Given the description of an element on the screen output the (x, y) to click on. 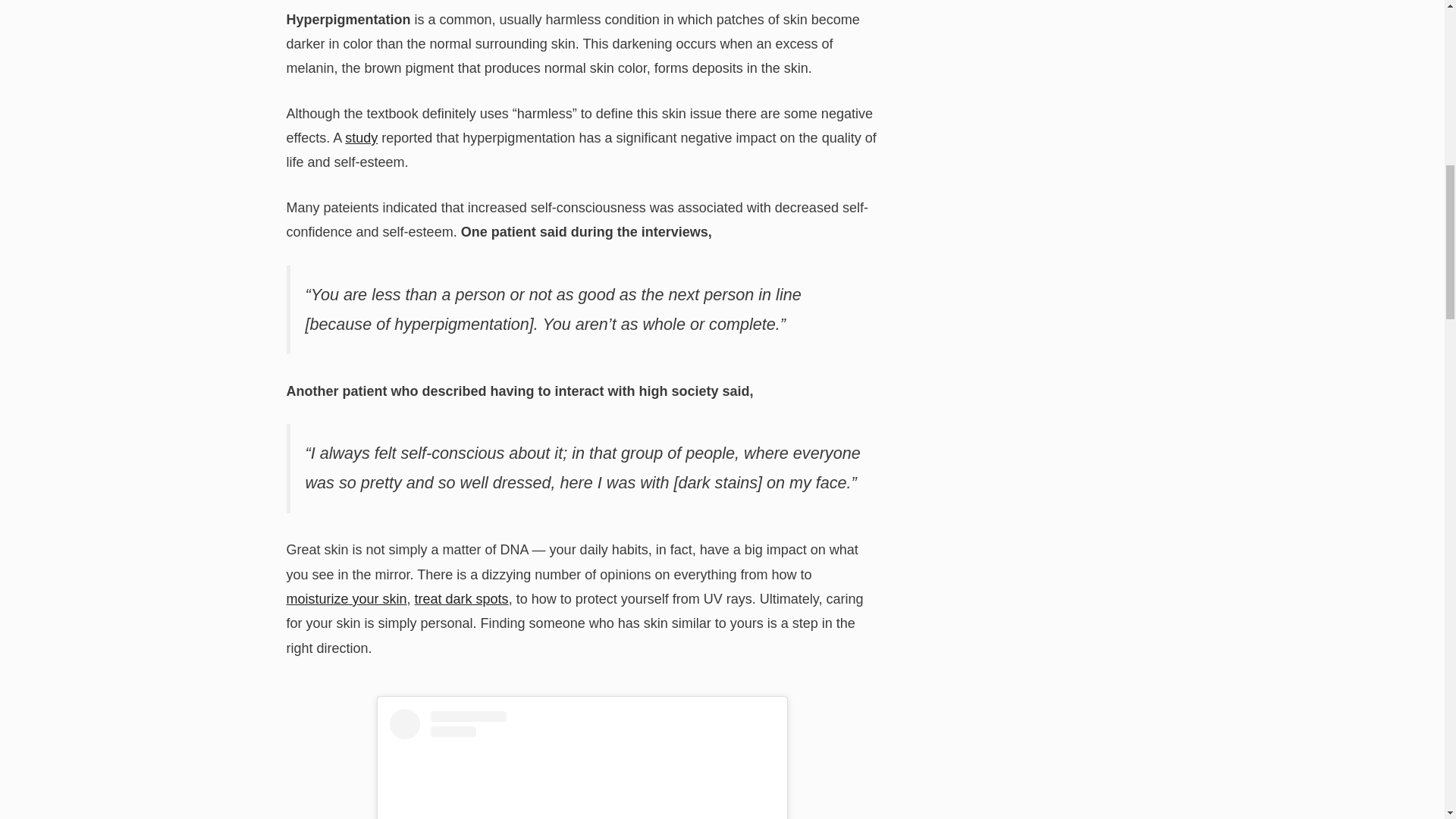
treat dark spots (461, 598)
View this post on Instagram (582, 764)
moisturize your skin (346, 598)
study (361, 137)
